Given the description of an element on the screen output the (x, y) to click on. 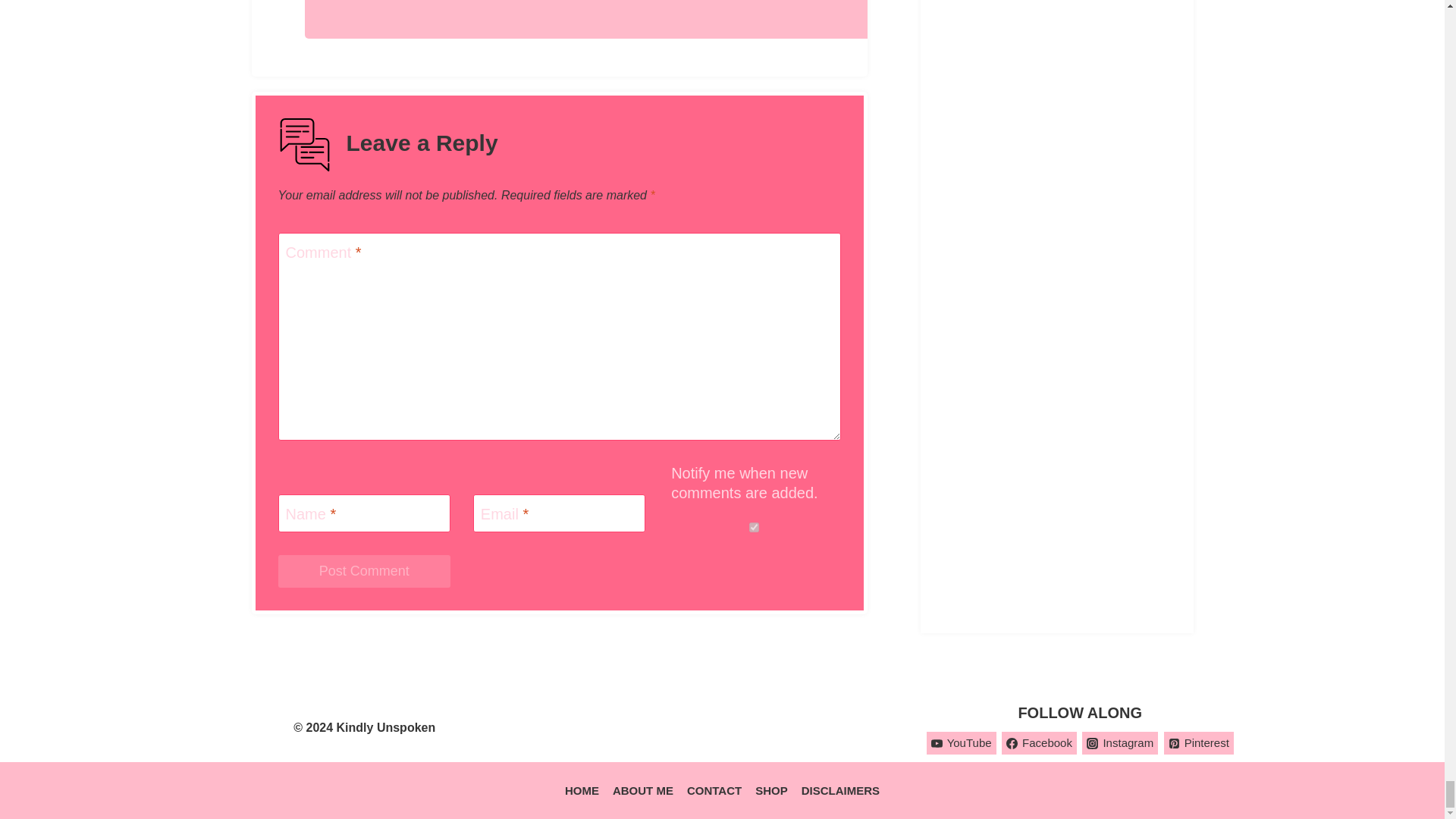
1 (754, 527)
Post Comment (363, 571)
